Given the description of an element on the screen output the (x, y) to click on. 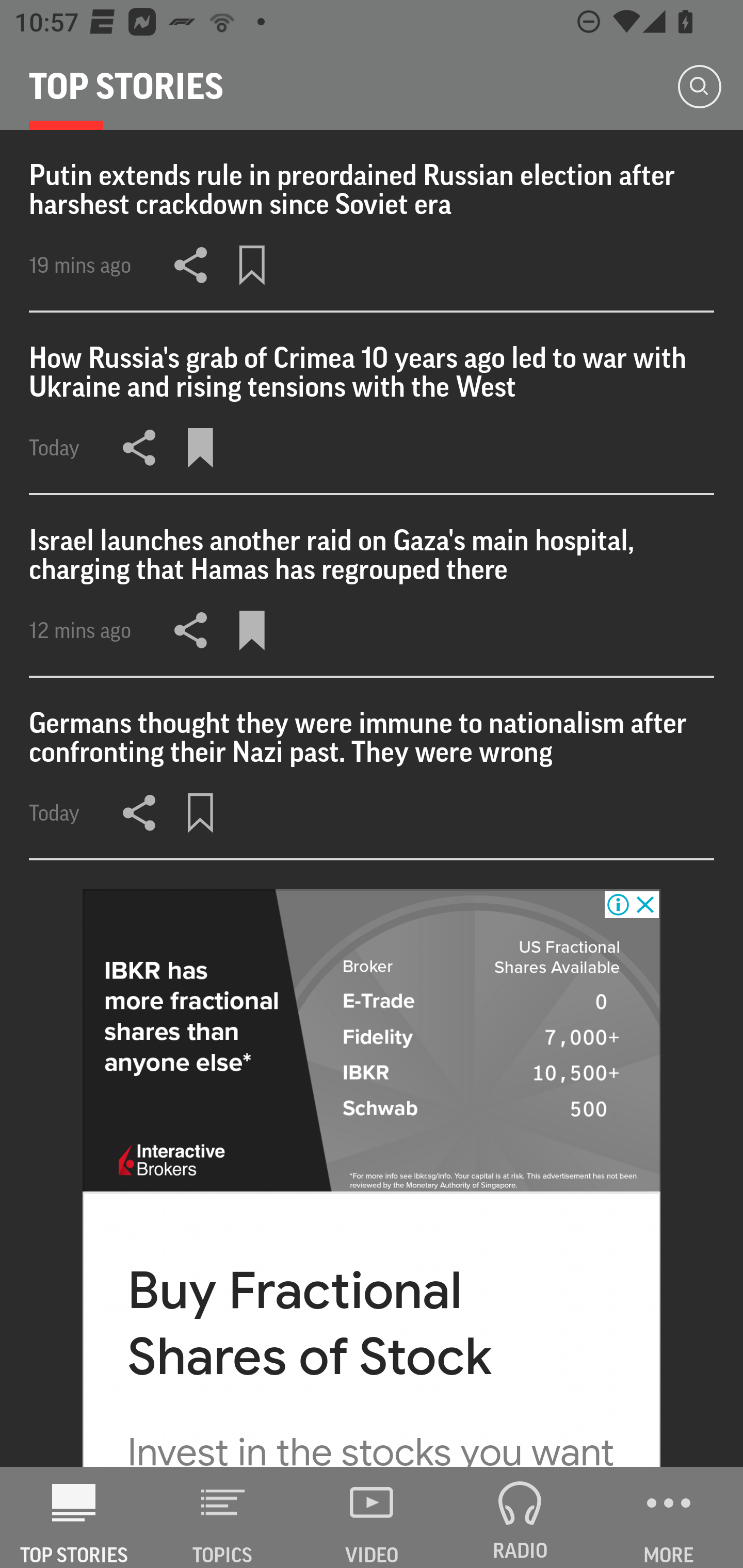
AP News TOP STORIES (74, 1517)
TOPICS (222, 1517)
VIDEO (371, 1517)
RADIO (519, 1517)
MORE (668, 1517)
